Given the description of an element on the screen output the (x, y) to click on. 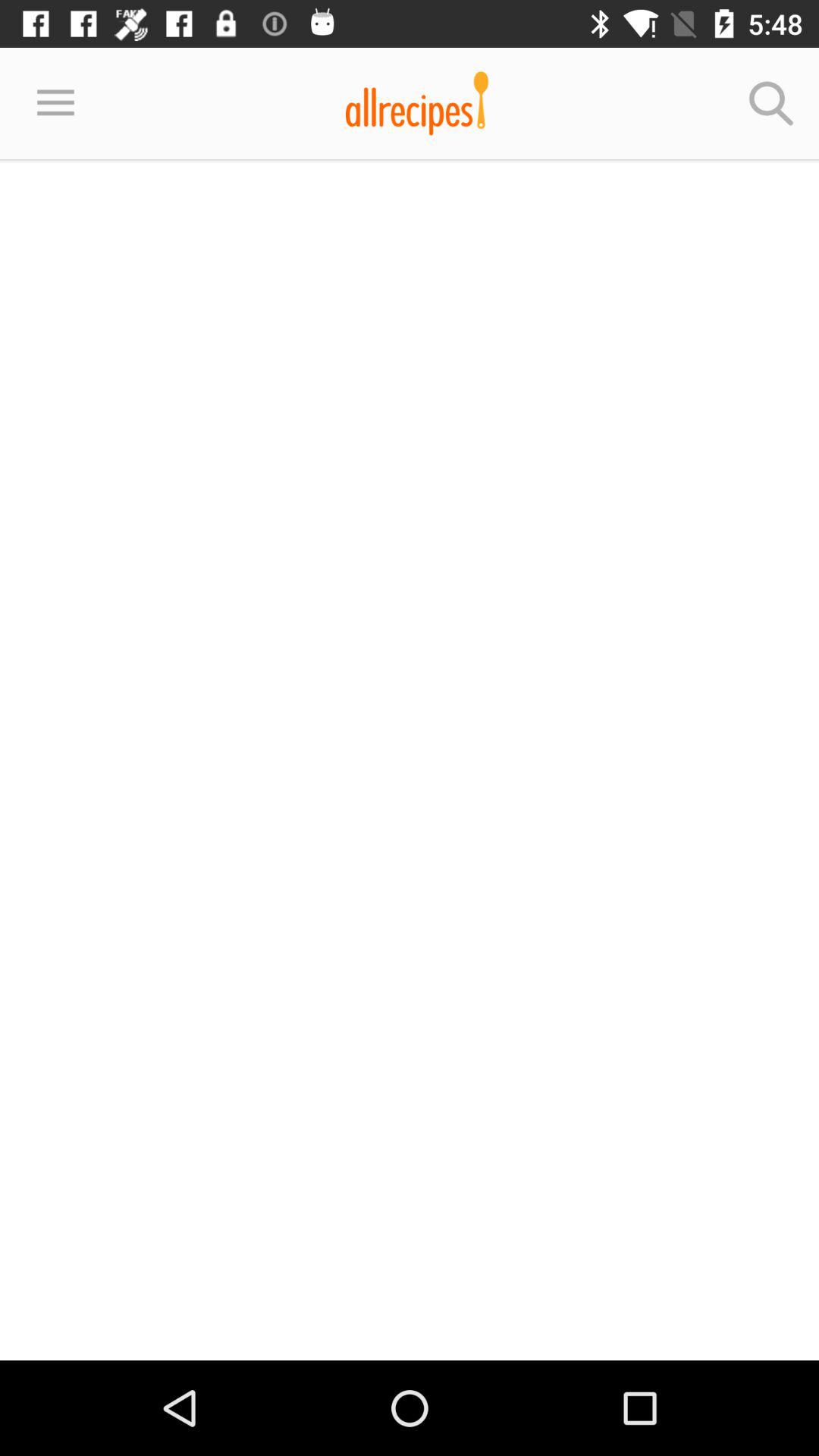
select icon at the top right corner (771, 103)
